Given the description of an element on the screen output the (x, y) to click on. 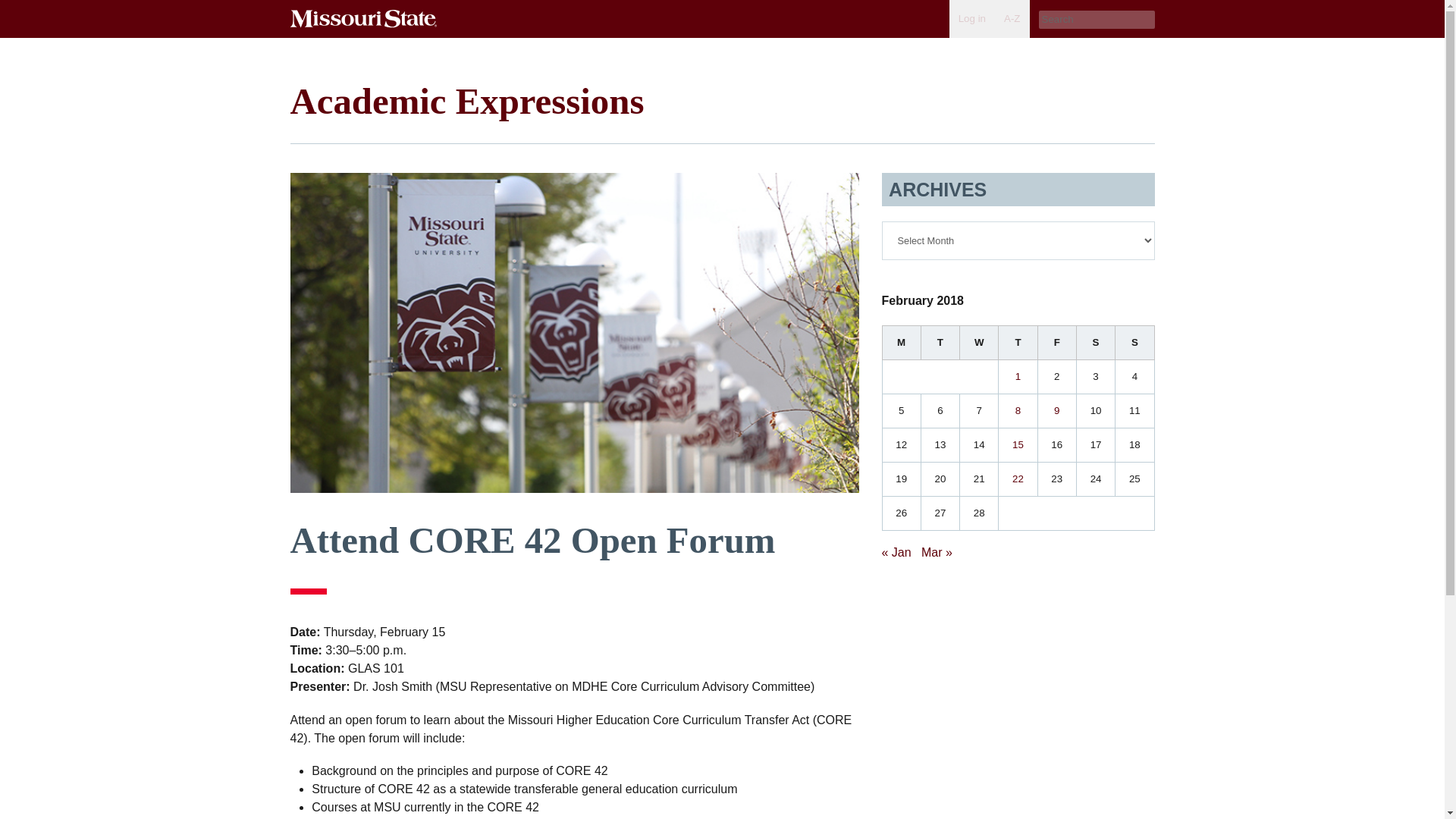
Tuesday (939, 342)
Saturday (1095, 342)
Monday (901, 342)
Friday (1055, 342)
A-Z (1011, 18)
Academic Expressions (466, 101)
Thursday (1017, 342)
Wednesday (978, 342)
Sunday (1134, 342)
Log in (971, 18)
